Given the description of an element on the screen output the (x, y) to click on. 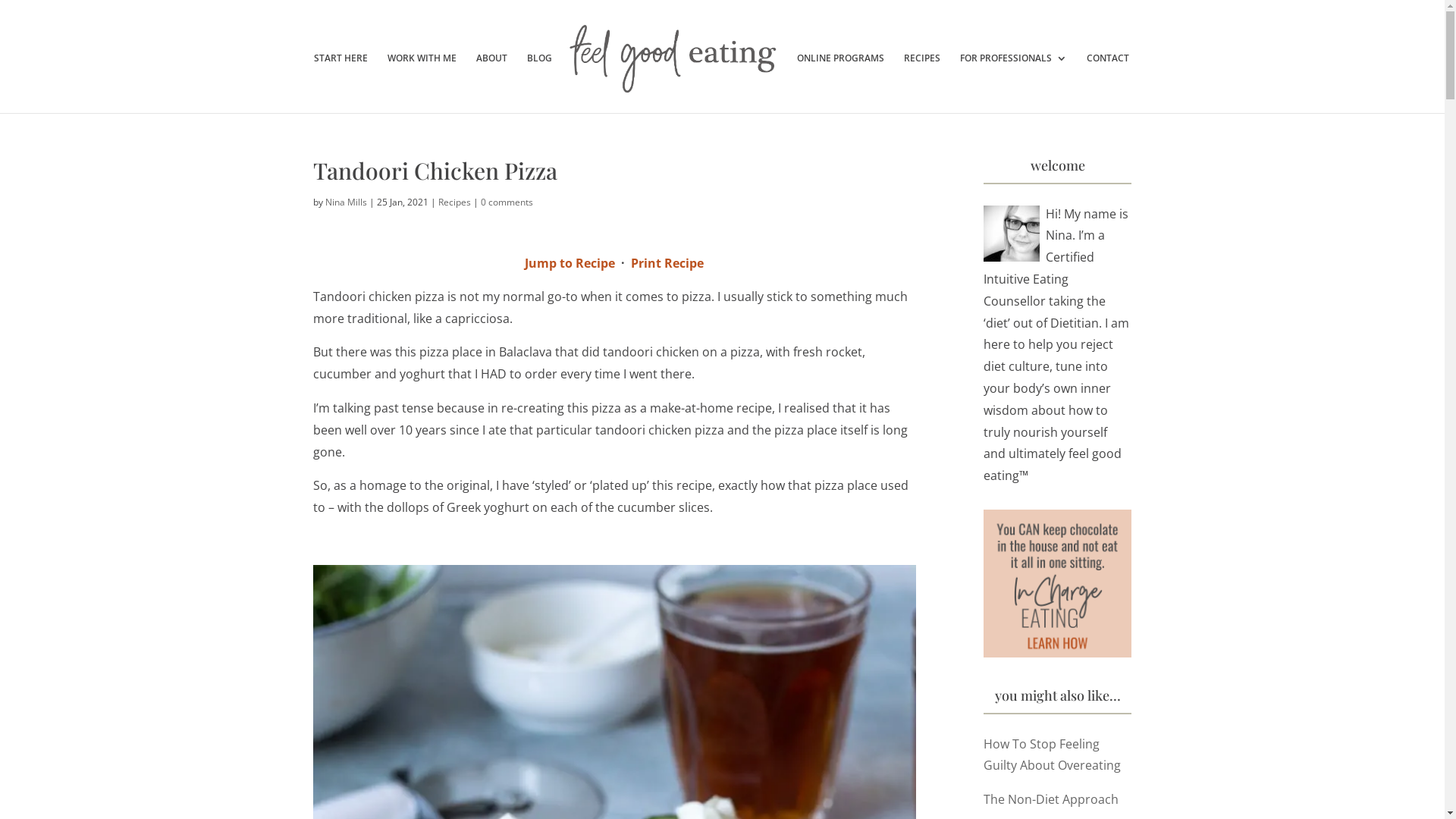
START HERE Element type: text (340, 82)
WORK WITH ME Element type: text (421, 82)
Nina Mills Element type: text (345, 201)
Jump to Recipe Element type: text (569, 262)
0 comments Element type: text (506, 201)
Recipes Element type: text (454, 201)
CONTACT Element type: text (1107, 82)
BLOG Element type: text (539, 82)
ONLINE PROGRAMS Element type: text (840, 82)
Print Recipe Element type: text (666, 262)
How To Stop Feeling Guilty About Overeating Element type: text (1051, 754)
RECIPES Element type: text (921, 82)
The Non-Diet Approach Element type: text (1050, 798)
FOR PROFESSIONALS Element type: text (1013, 82)
ABOUT Element type: text (491, 82)
